Given the description of an element on the screen output the (x, y) to click on. 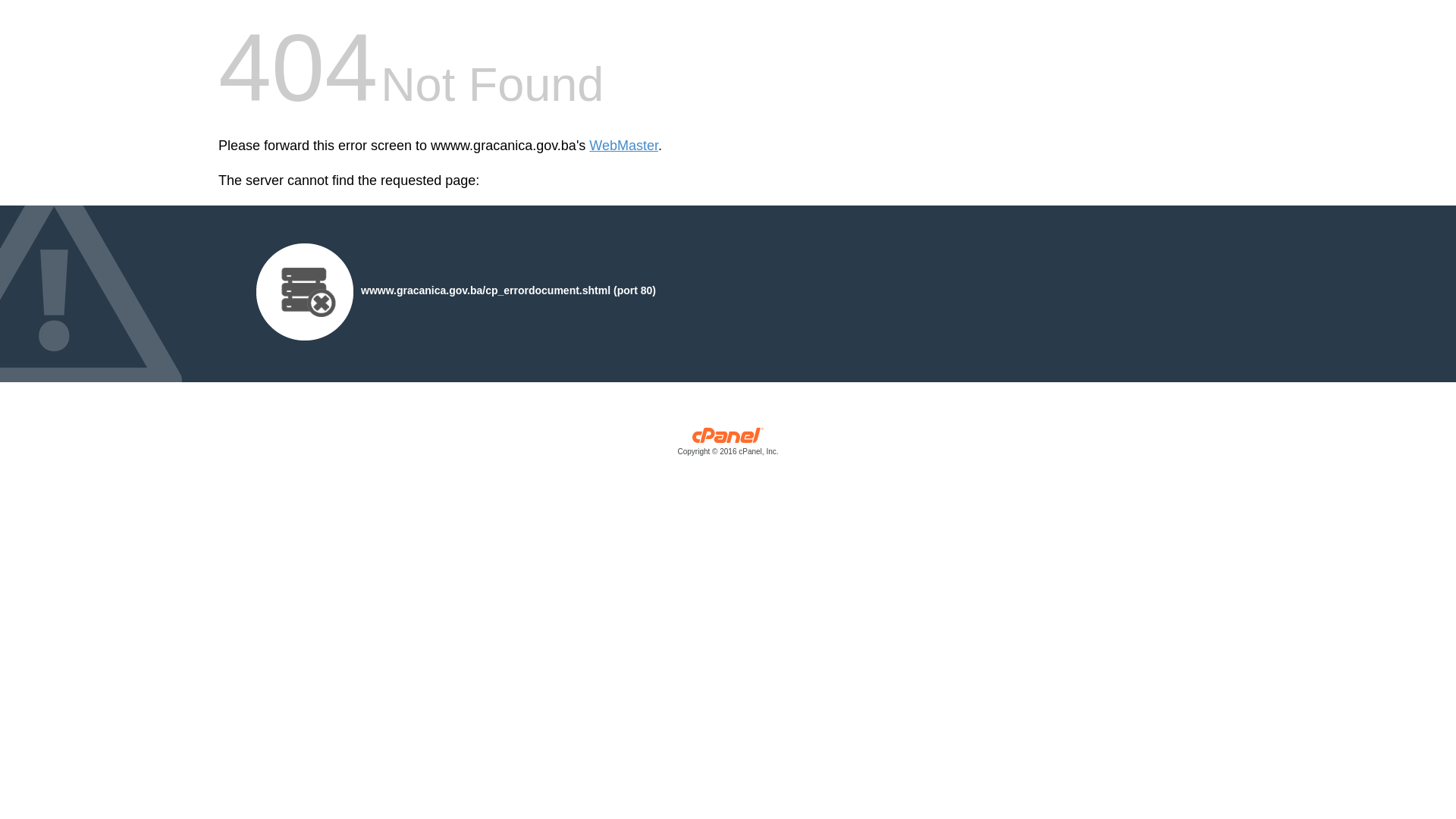
WebMaster Element type: text (623, 145)
